Given the description of an element on the screen output the (x, y) to click on. 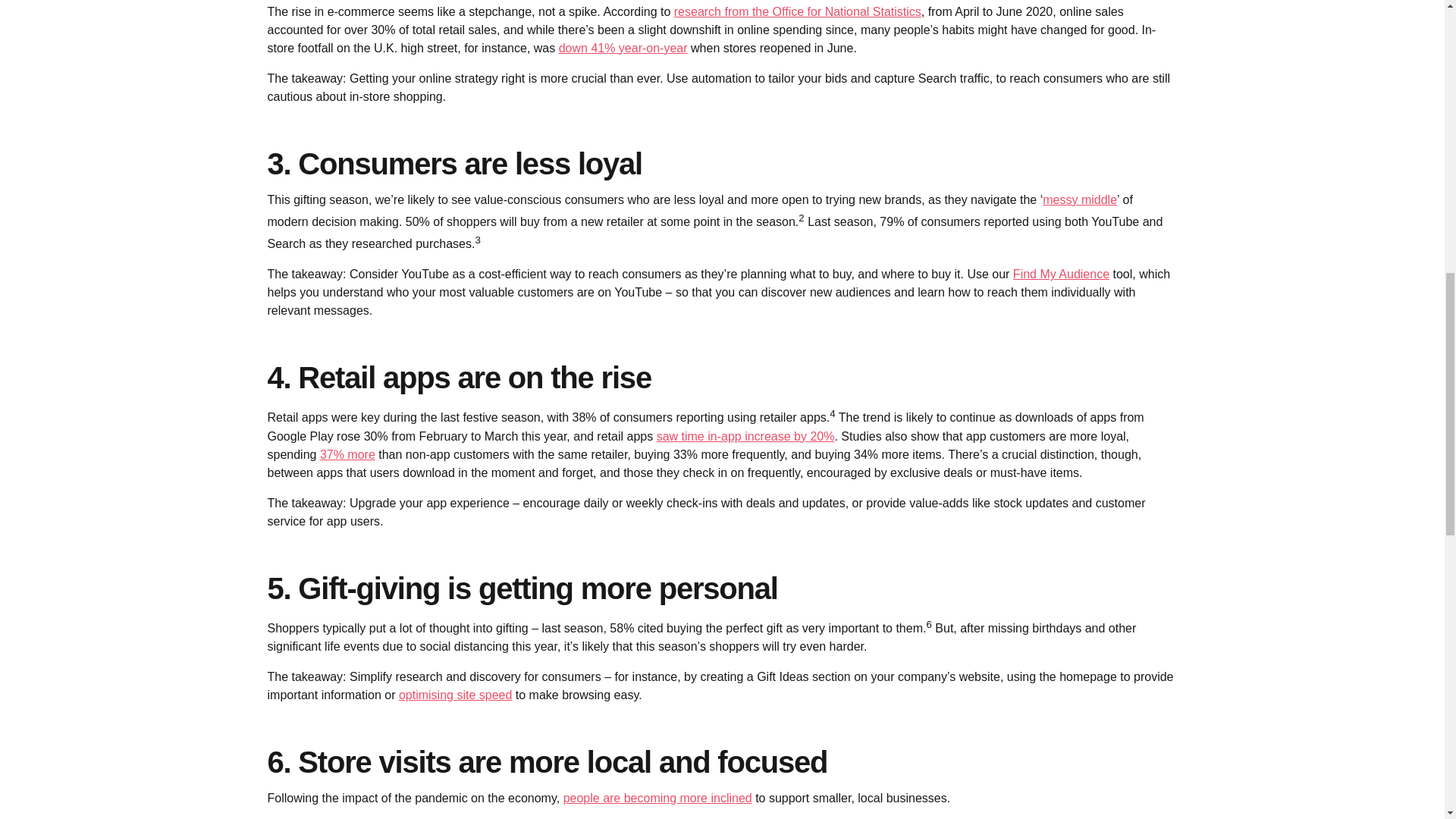
research from the Office for National Statistics (797, 11)
Find My Audience (1061, 273)
messy middle (1079, 199)
optimising site speed (455, 694)
people are becoming more inclined (657, 797)
